Given the description of an element on the screen output the (x, y) to click on. 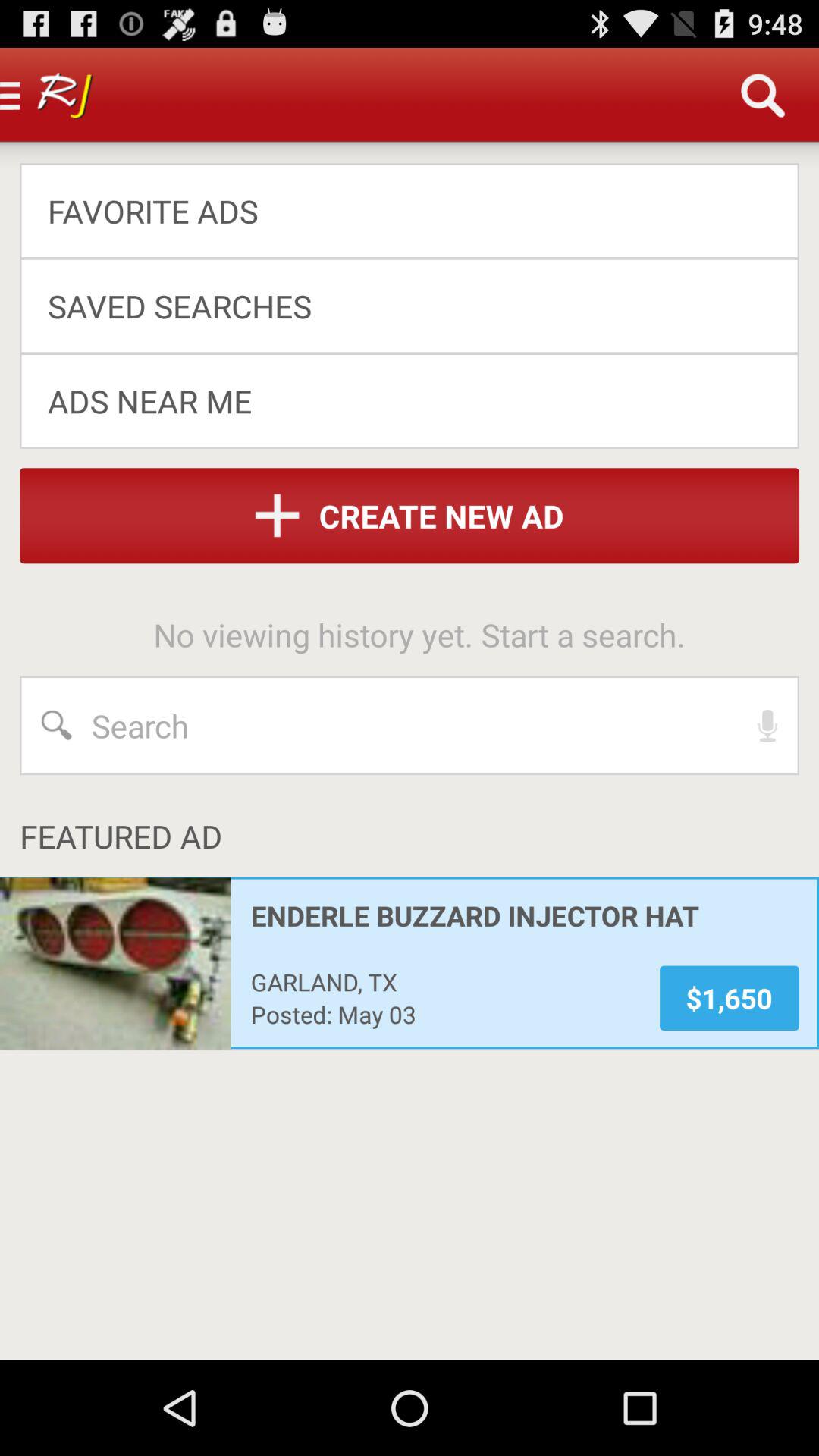
enable voice search (767, 725)
